Given the description of an element on the screen output the (x, y) to click on. 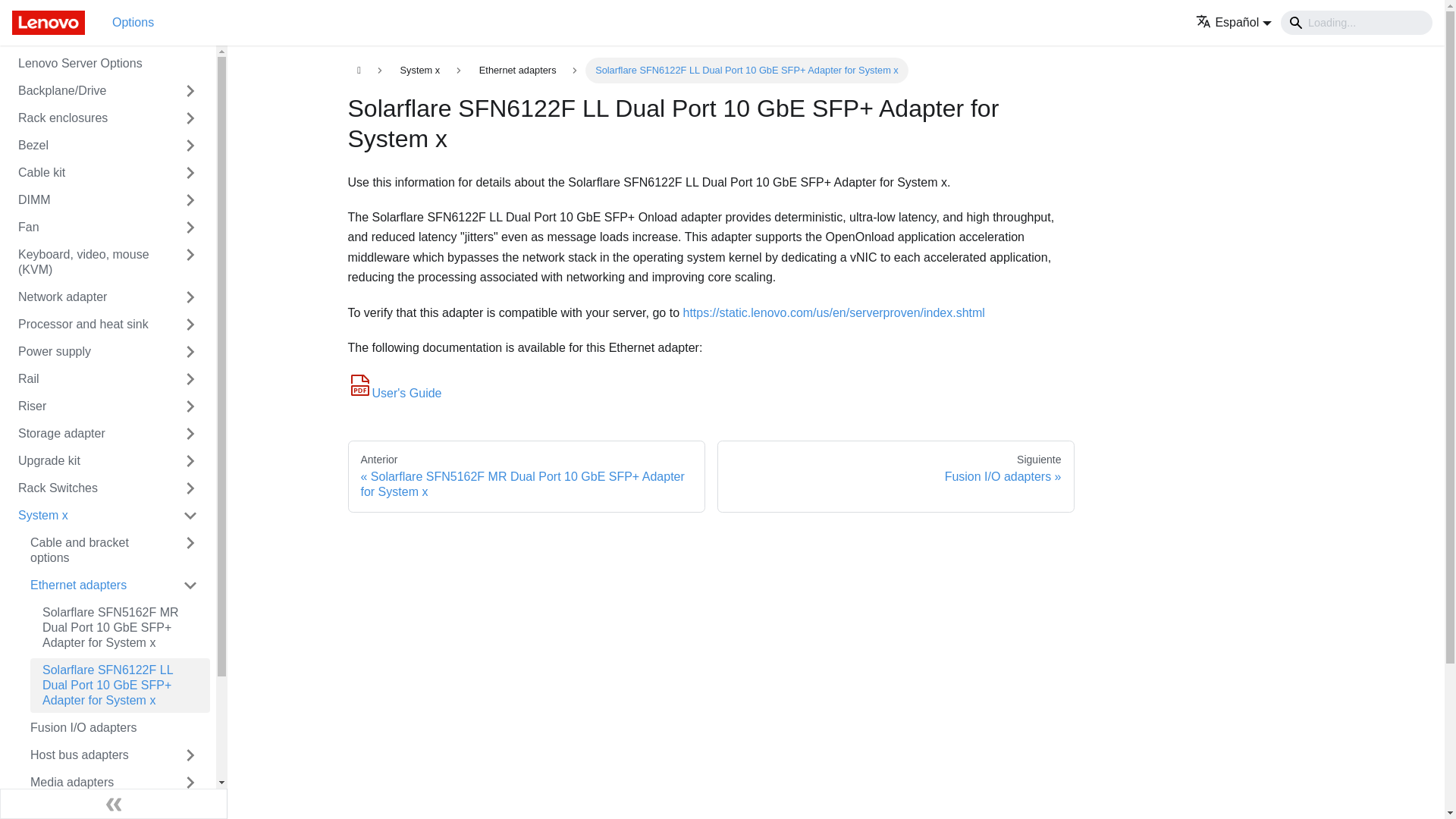
Bezel (86, 145)
Network adapter (86, 297)
Rail (86, 378)
Cable kit (86, 172)
Processor and heat sink (86, 324)
Lenovo Server Options (107, 63)
User's Guide (394, 392)
Fan (86, 227)
DIMM (86, 200)
Colapsar barra lateral (113, 803)
